Given the description of an element on the screen output the (x, y) to click on. 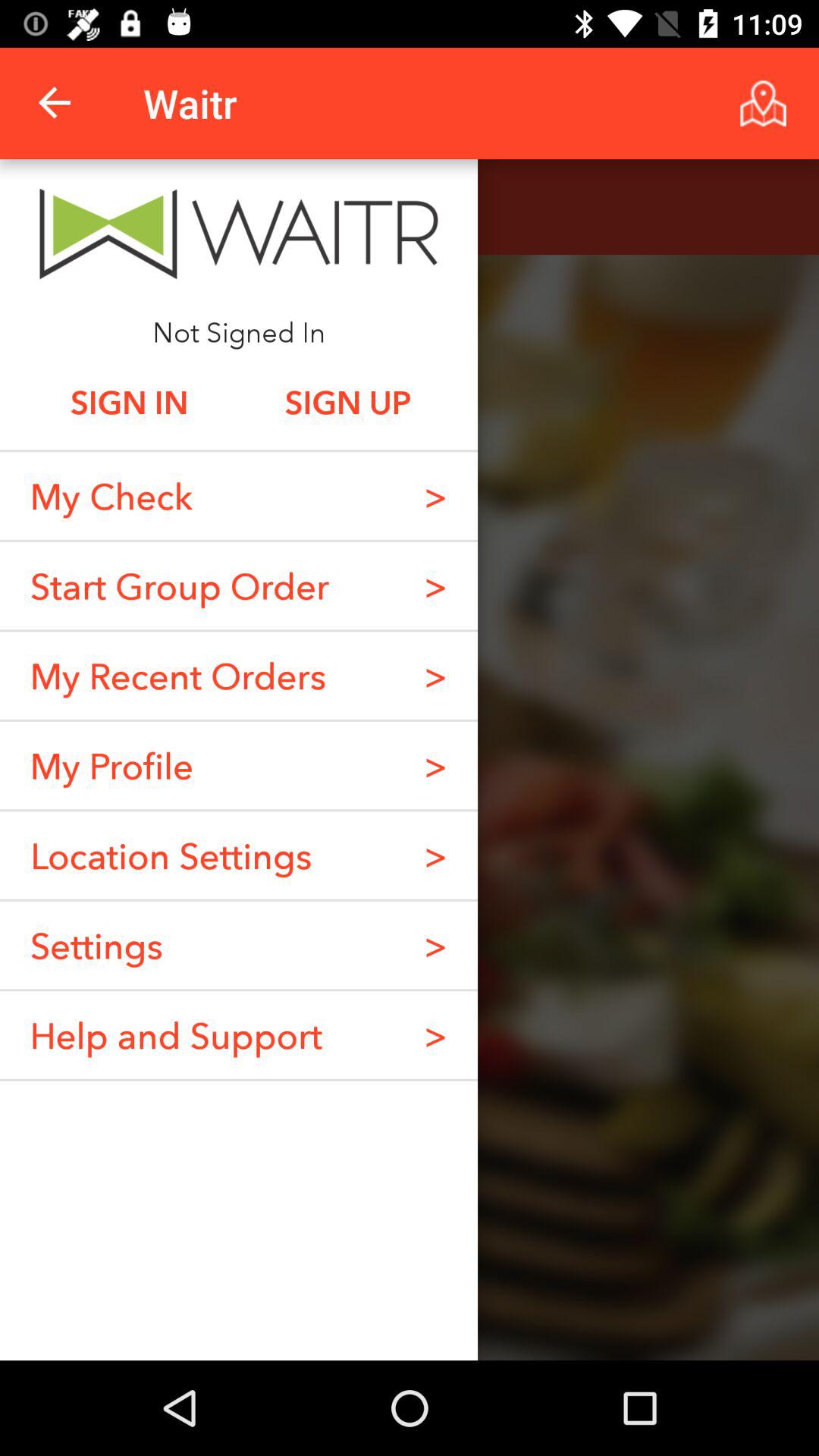
turn on the item next to the help and support (435, 945)
